Given the description of an element on the screen output the (x, y) to click on. 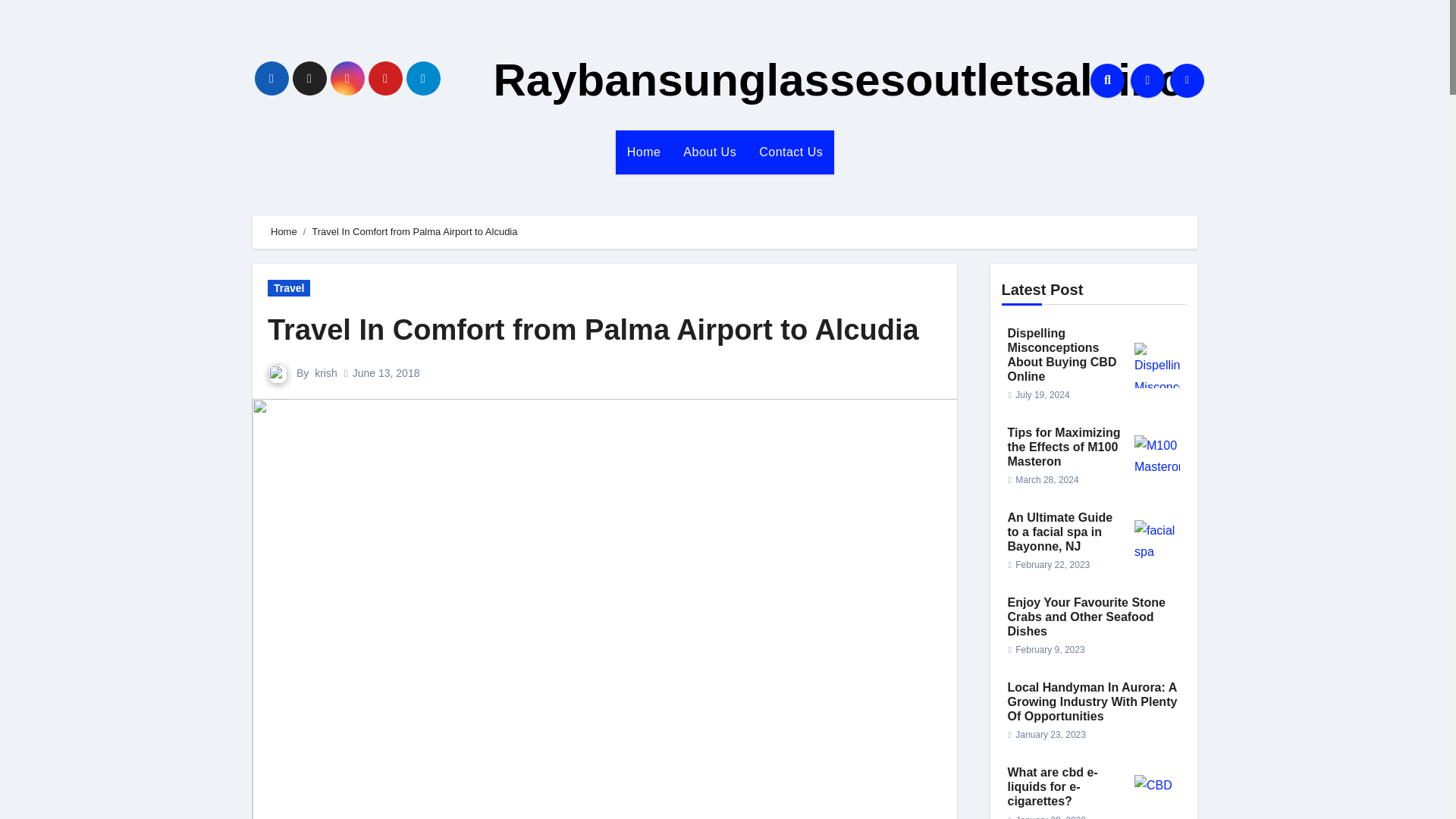
June 13, 2018 (386, 372)
Home (643, 152)
Home (643, 152)
About Us (709, 152)
Travel (288, 288)
krish (325, 372)
Home (283, 231)
Travel In Comfort from Palma Airport to Alcudia (592, 329)
Contact Us (791, 152)
